Given the description of an element on the screen output the (x, y) to click on. 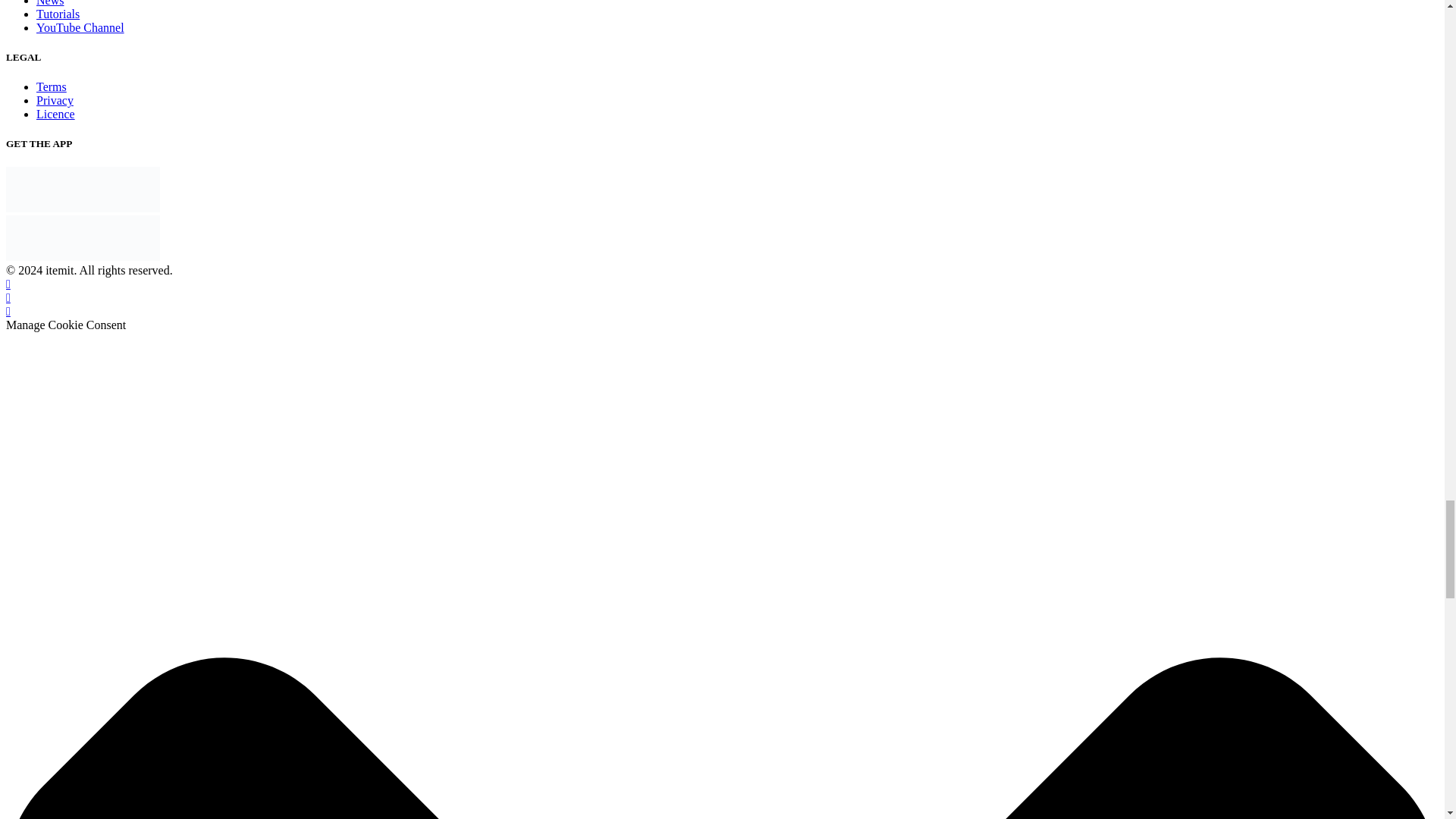
Google play button (82, 238)
appstore button (82, 189)
